Given the description of an element on the screen output the (x, y) to click on. 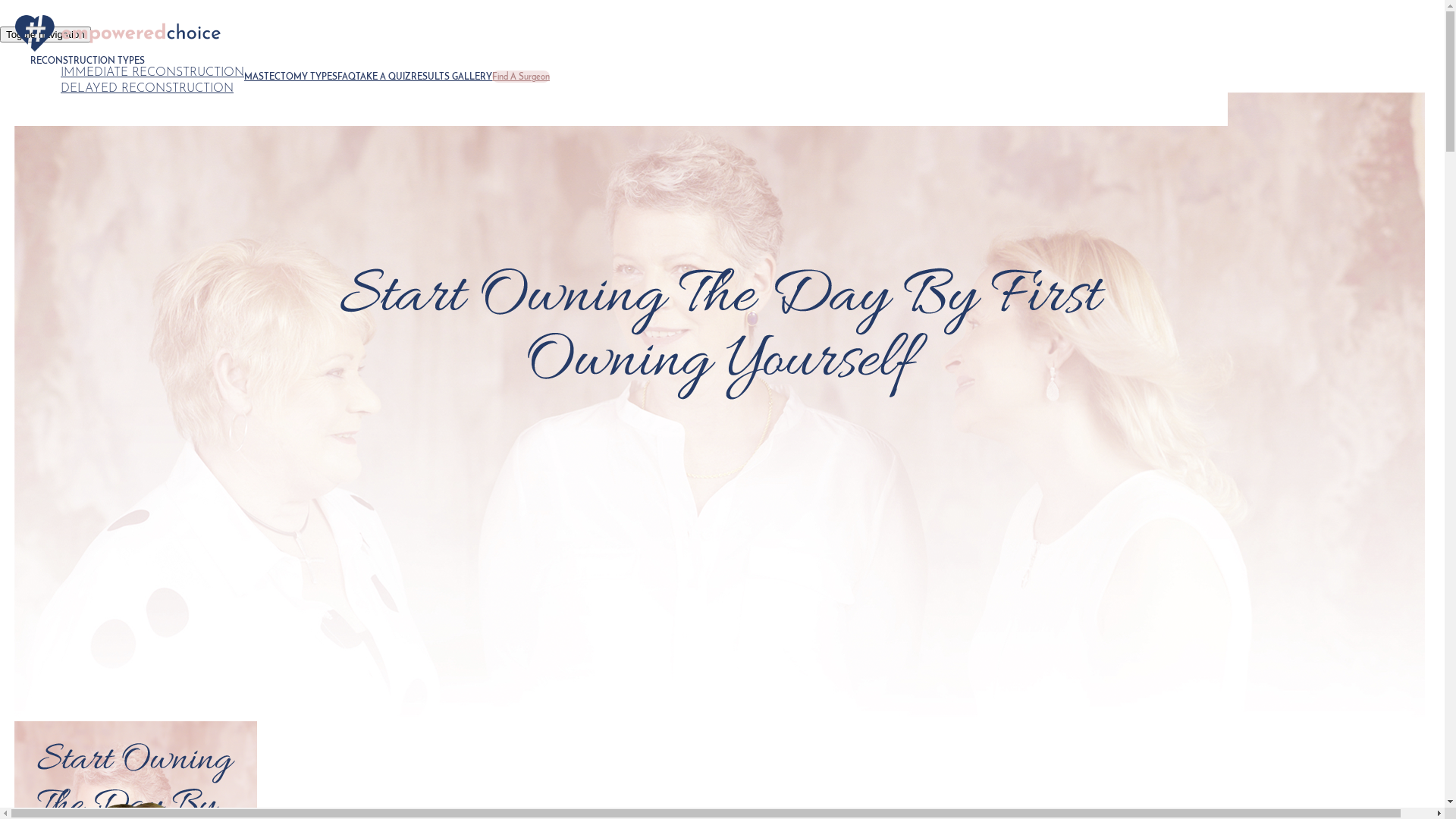
Close Element type: text (55, 327)
TAKE A QUIZ Element type: text (383, 76)
DELAYED RECONSTRUCTION Element type: text (146, 88)
IMMEDIATE RECONSTRUCTION Element type: text (152, 72)
FAQ Element type: text (346, 76)
Find A Surgeon Element type: text (520, 76)
MASTECTOMY TYPES Element type: text (290, 76)
RECONSTRUCTION TYPES Element type: text (87, 60)
Toggle navigation Element type: text (45, 34)
Home Element type: hover (123, 34)
RESULTS GALLERY Element type: text (451, 76)
